Given the description of an element on the screen output the (x, y) to click on. 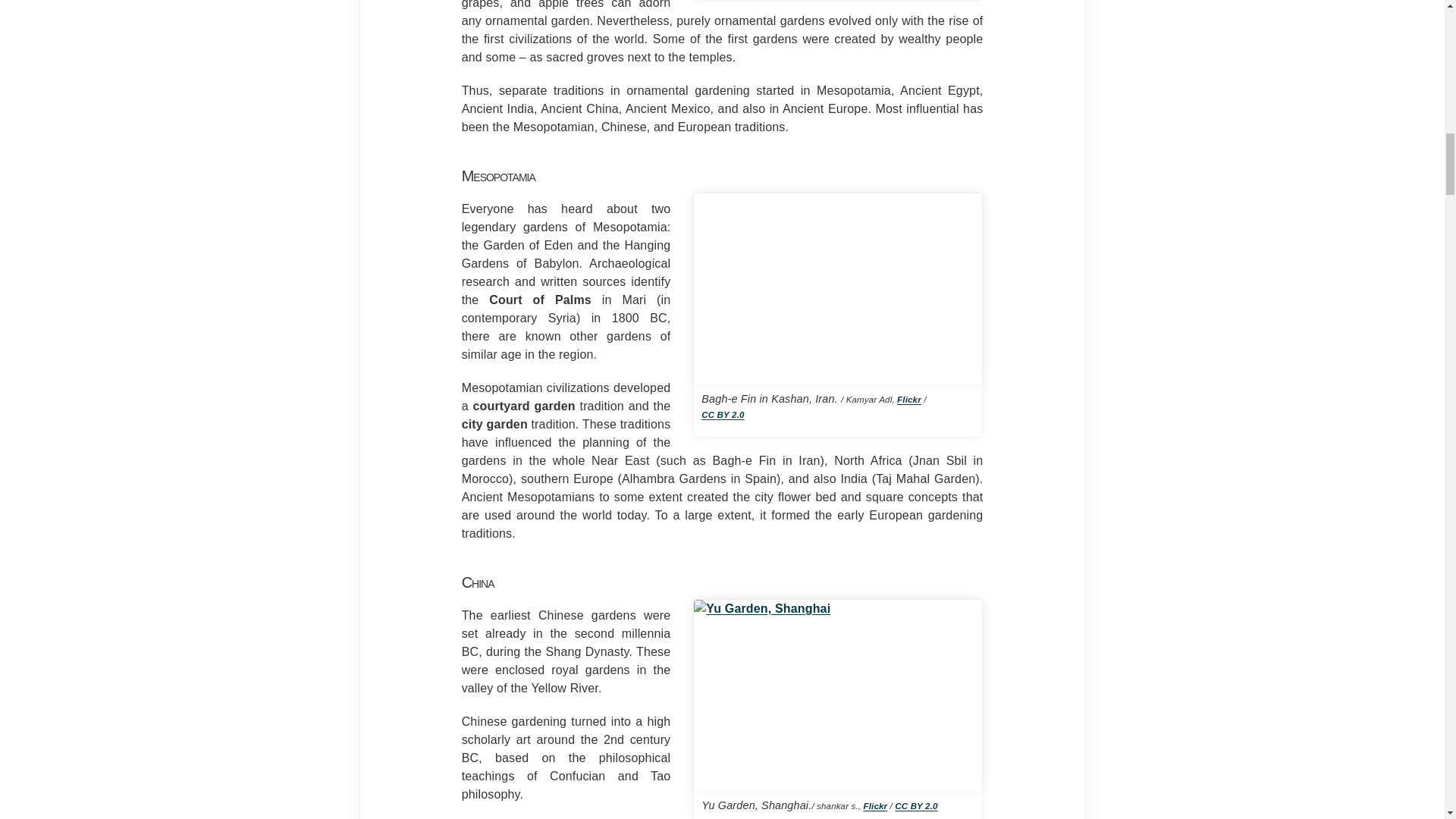
Flickr (908, 399)
CC BY 2.0 (722, 414)
Flickr (875, 805)
CC BY 2.0 (916, 805)
